Given the description of an element on the screen output the (x, y) to click on. 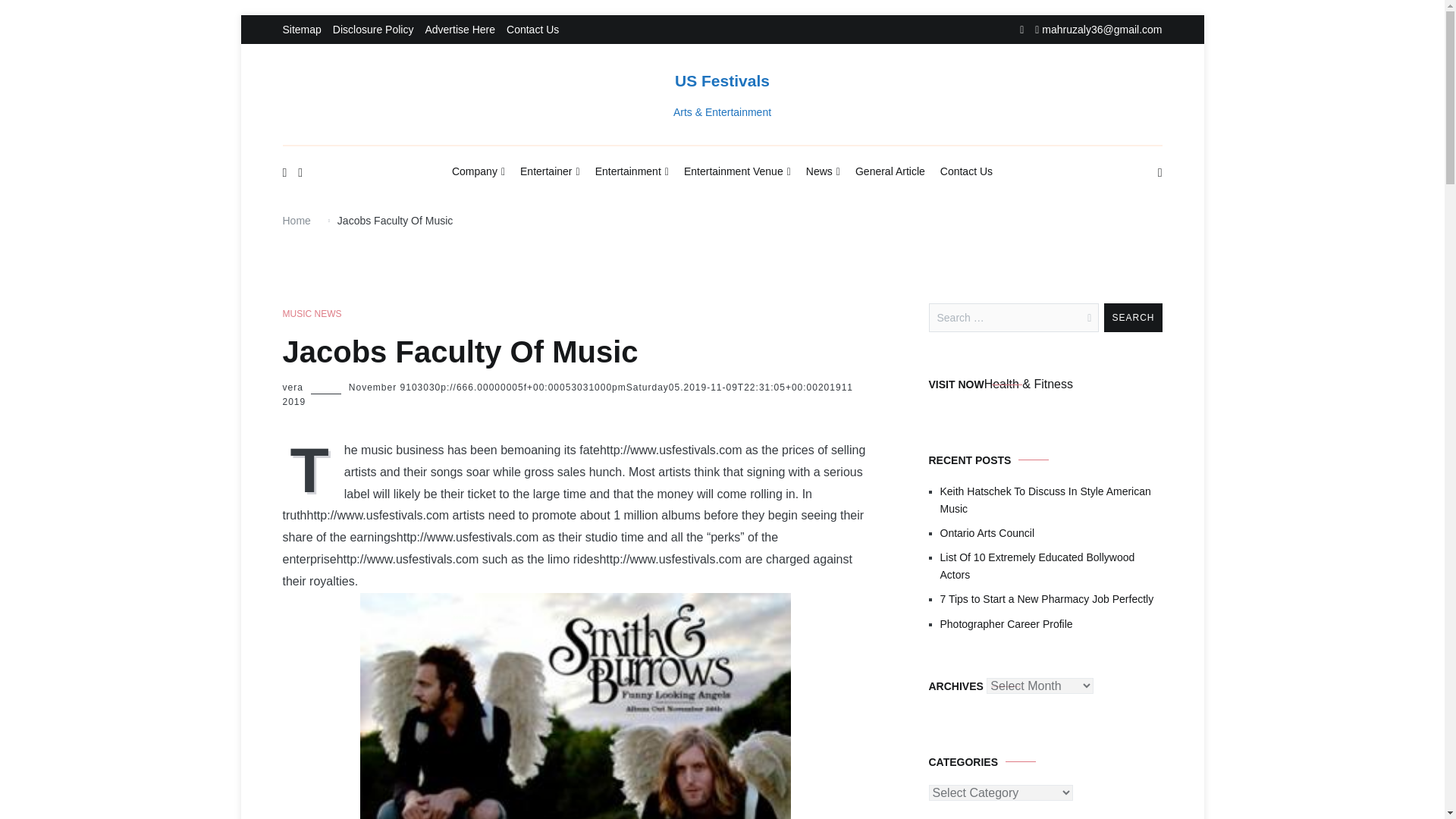
Advertise Here (460, 29)
Entertainment Venue (737, 171)
US Festivals (722, 80)
Contact Us (966, 171)
Search (1132, 317)
Disclosure Policy (373, 29)
Entertainer (549, 171)
Company (478, 171)
T (312, 467)
Sitemap (301, 29)
